Given the description of an element on the screen output the (x, y) to click on. 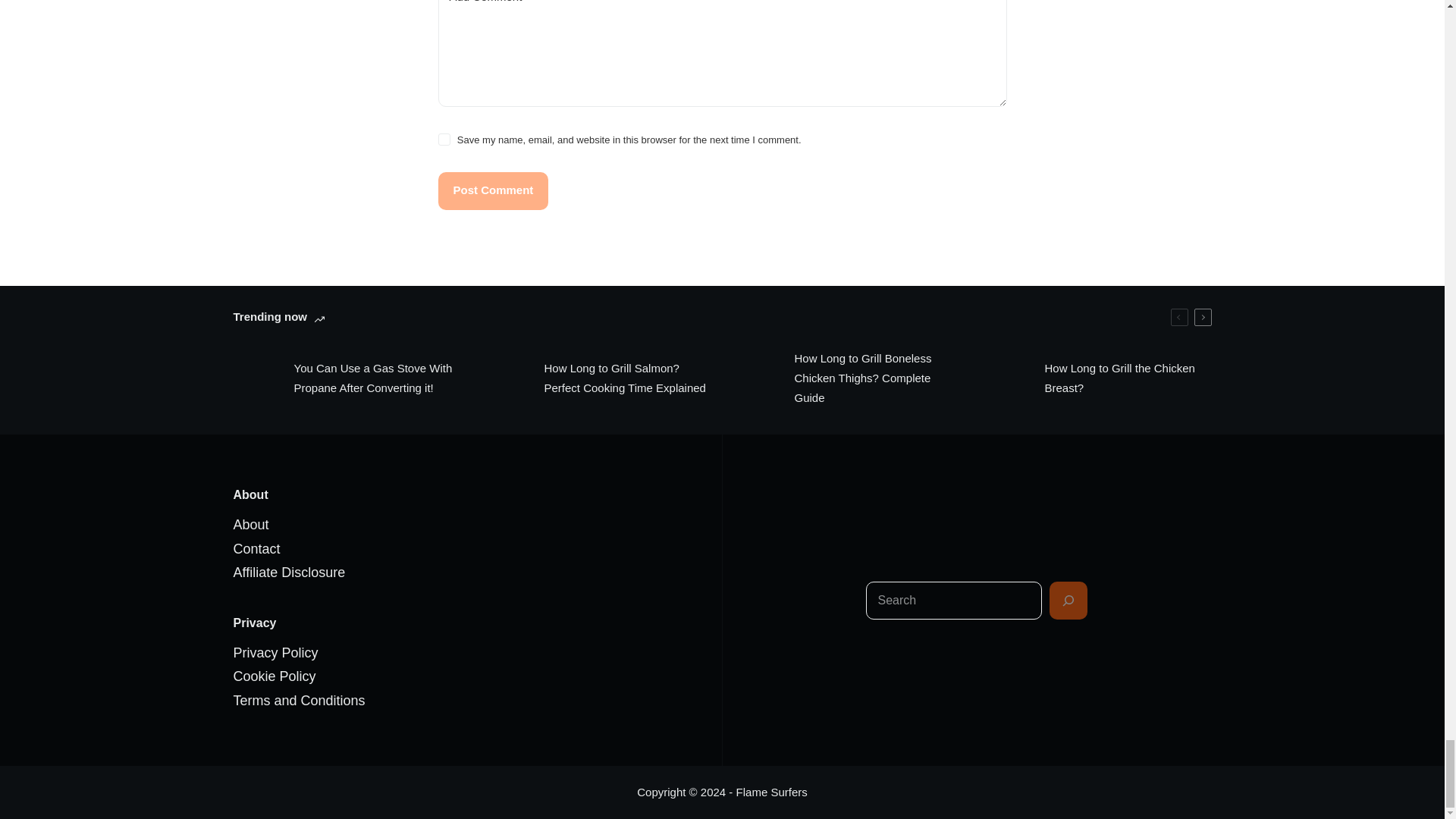
How Long to Grill Salmon? Perfect Cooking Time Explained (597, 378)
About (250, 524)
yes (443, 139)
Contact (256, 548)
How Long to Grill the Chicken Breast? (1097, 378)
You Can Use a Gas Stove With Propane After Converting it! (346, 378)
How Long to Grill Boneless Chicken Thighs? Complete Guide (846, 378)
Affiliate Disclosure (289, 572)
Post Comment (493, 190)
